Given the description of an element on the screen output the (x, y) to click on. 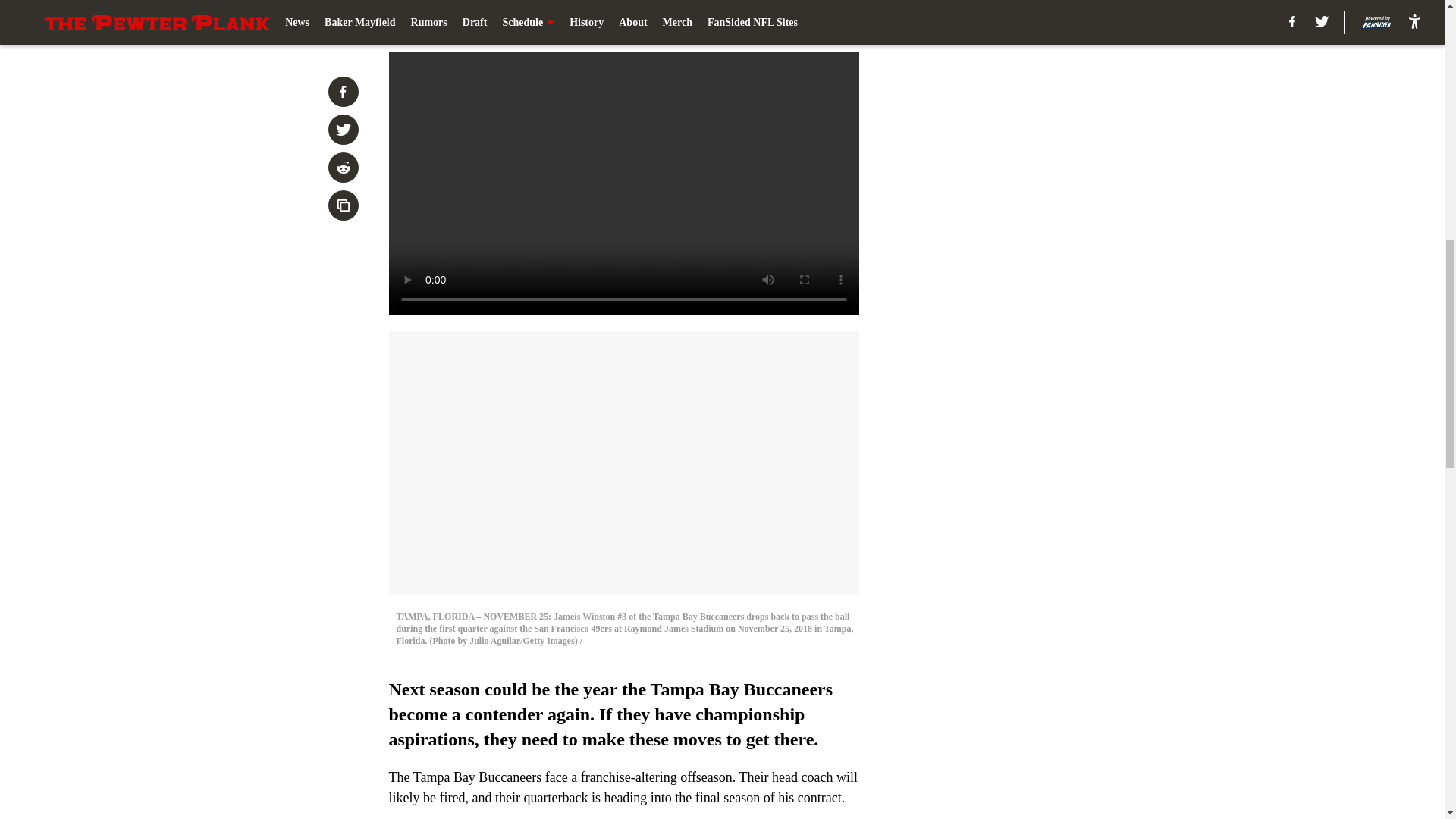
3rd party ad content (1047, 320)
Next (813, 20)
3rd party ad content (1047, 100)
Prev (433, 20)
